Given the description of an element on the screen output the (x, y) to click on. 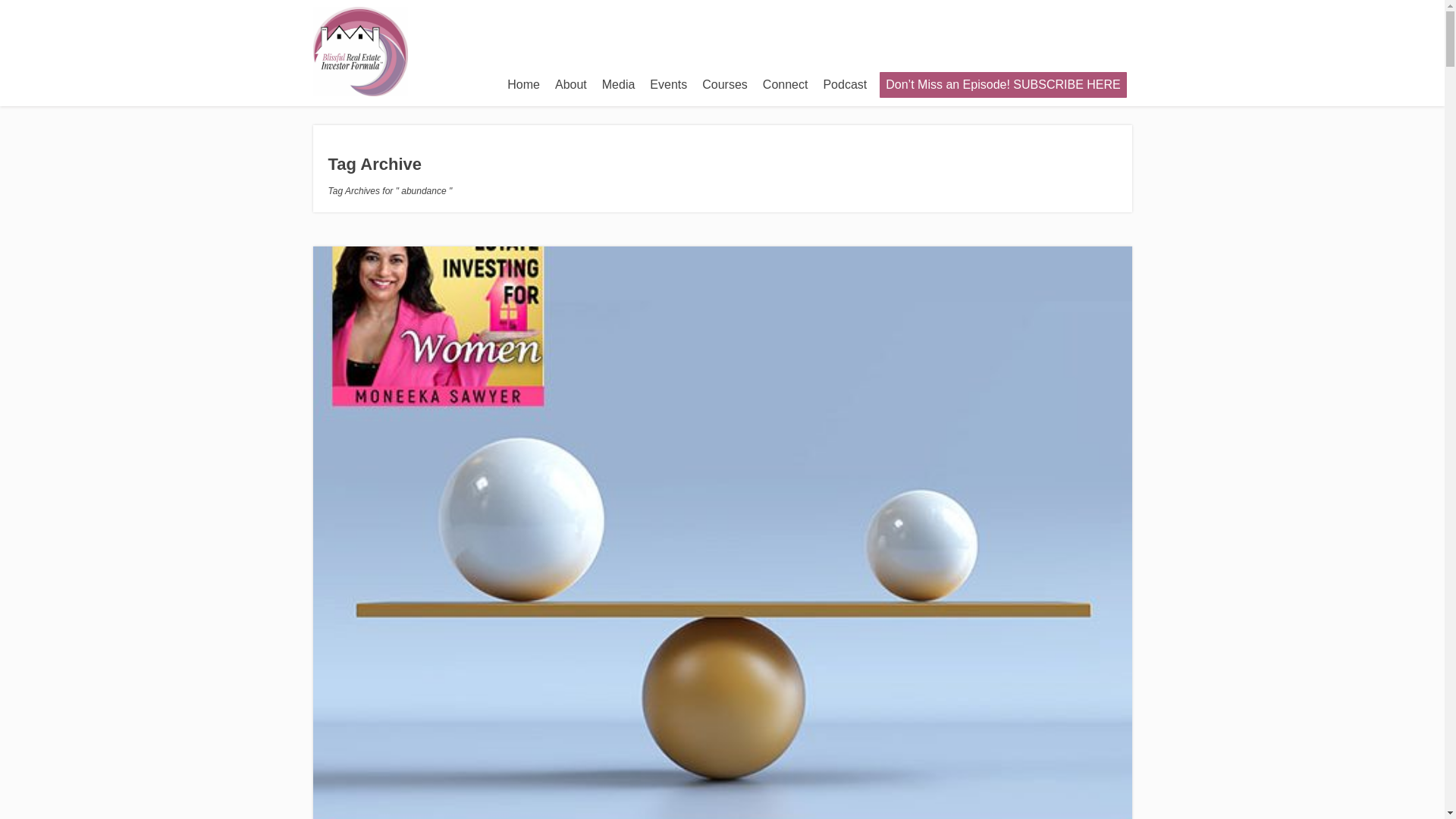
Events (668, 84)
About (570, 84)
Home (523, 84)
Media (618, 84)
Courses (724, 84)
Podcast (845, 84)
Connect (785, 84)
